Given the description of an element on the screen output the (x, y) to click on. 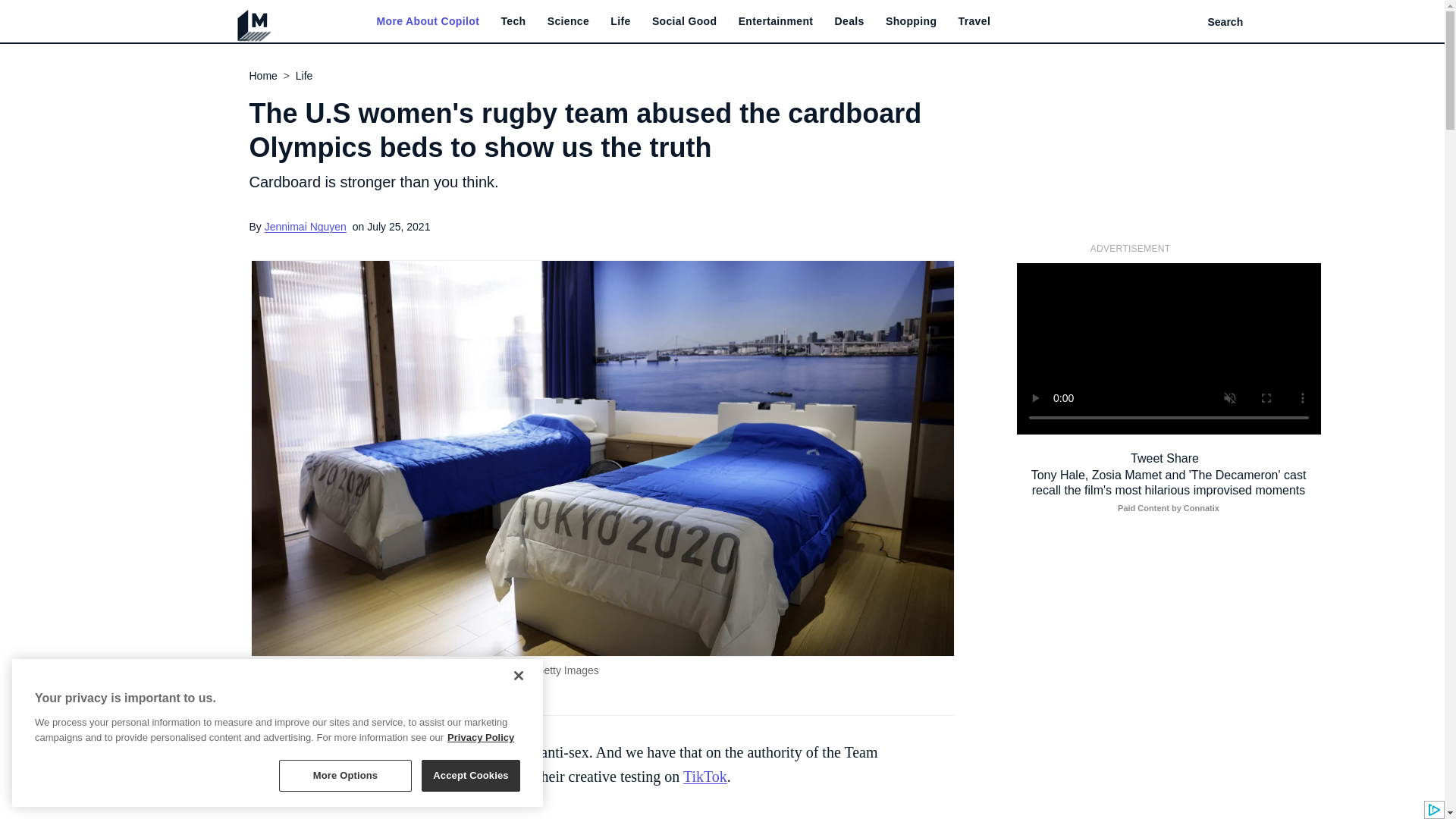
Social Good (684, 21)
Life (620, 21)
More About Copilot (427, 21)
Science (568, 21)
Shopping (910, 21)
Deals (849, 21)
Entertainment (775, 21)
Tech (512, 21)
Travel (974, 21)
